Given the description of an element on the screen output the (x, y) to click on. 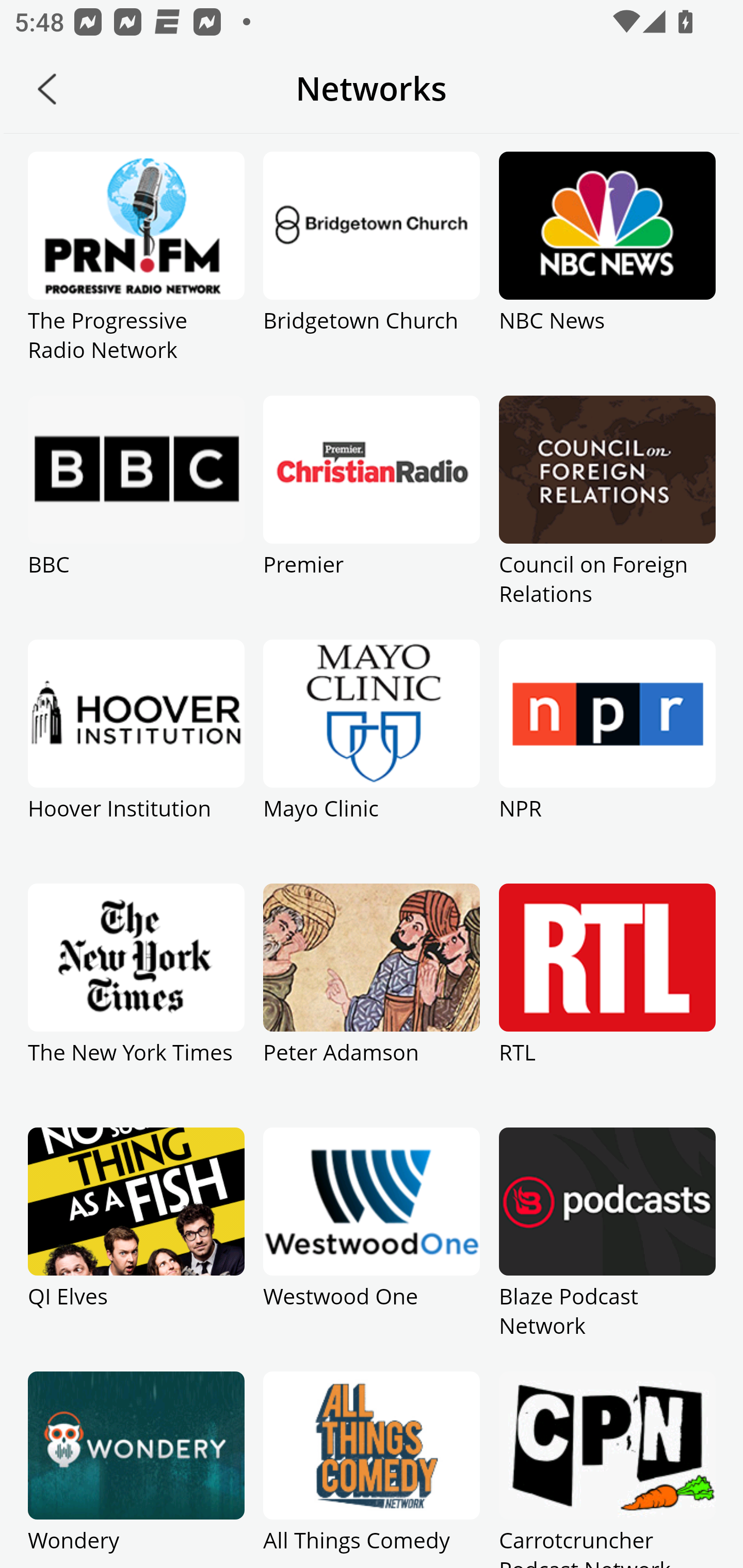
Back (46, 88)
The Progressive Radio Network (135, 273)
Bridgetown Church (371, 273)
NBC News (606, 273)
BBC (135, 517)
Premier (371, 517)
Council on Foreign Relations (606, 517)
Hoover Institution (135, 760)
Mayo Clinic (371, 760)
NPR (606, 760)
The New York Times (135, 1004)
Peter Adamson (371, 1004)
RTL (606, 1004)
QI Elves (135, 1249)
Westwood One (371, 1249)
Blaze Podcast Network (606, 1249)
Wondery (135, 1470)
All Things Comedy (371, 1470)
Carrotcruncher Podcast Network (606, 1470)
